Given the description of an element on the screen output the (x, y) to click on. 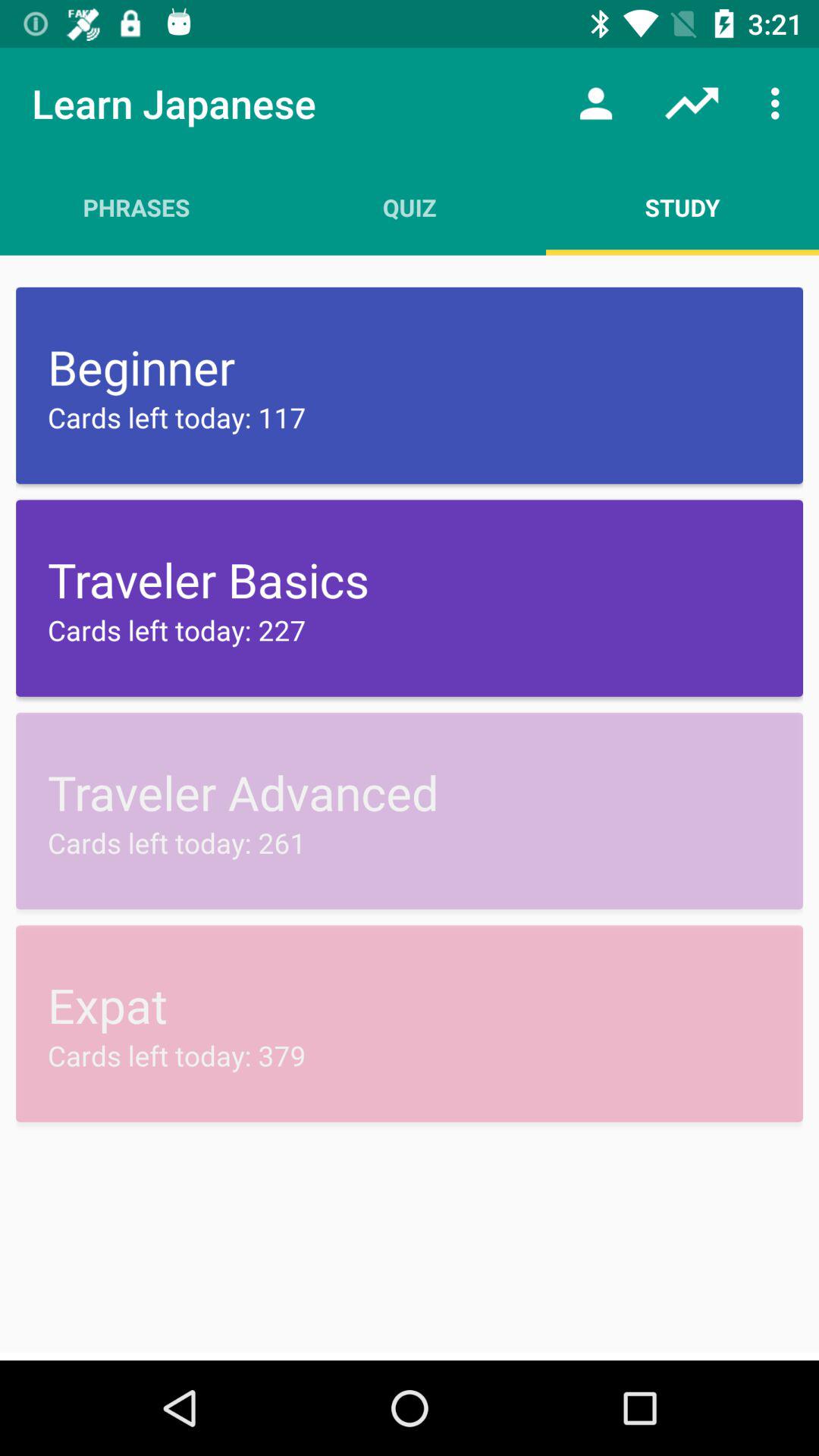
click item above the beginner icon (409, 207)
